Given the description of an element on the screen output the (x, y) to click on. 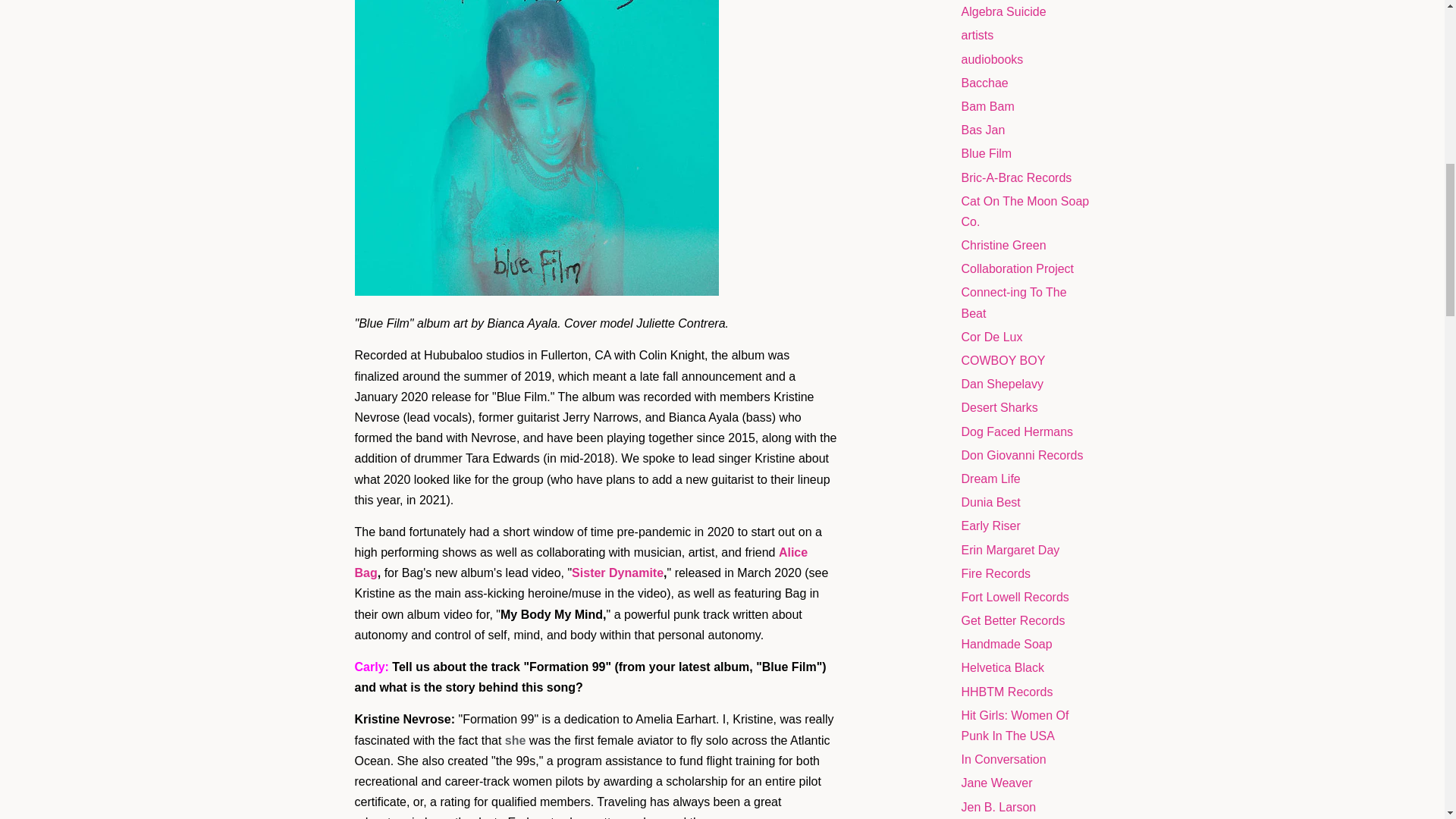
Show articles tagged Bric-A-Brac Records (1015, 177)
Show articles tagged Christine Green (1003, 245)
Sister Dynamite on In The Red Recordings (617, 572)
Show articles tagged audiobooks (991, 59)
Alice Bag (581, 562)
Show articles tagged Bas Jan (983, 129)
Show articles tagged artists (977, 34)
Show articles tagged Algebra Suicide (1003, 11)
Show articles tagged Blue Film (985, 153)
Show articles tagged Bam Bam (987, 106)
Show articles tagged Cat On The Moon Soap Co. (1024, 211)
Show articles tagged Bacchae (984, 82)
